Given the description of an element on the screen output the (x, y) to click on. 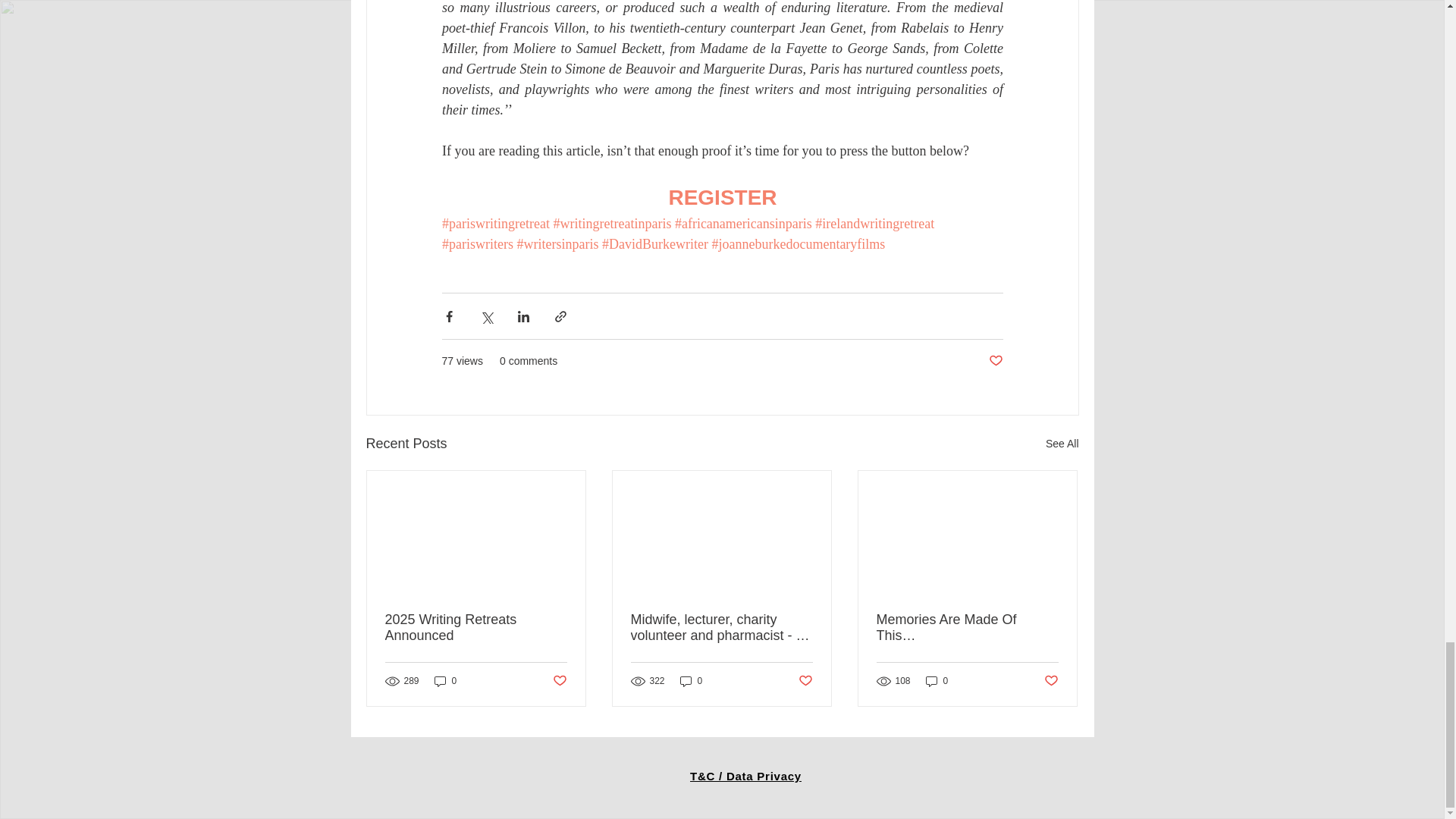
REGISTER (722, 197)
